Given the description of an element on the screen output the (x, y) to click on. 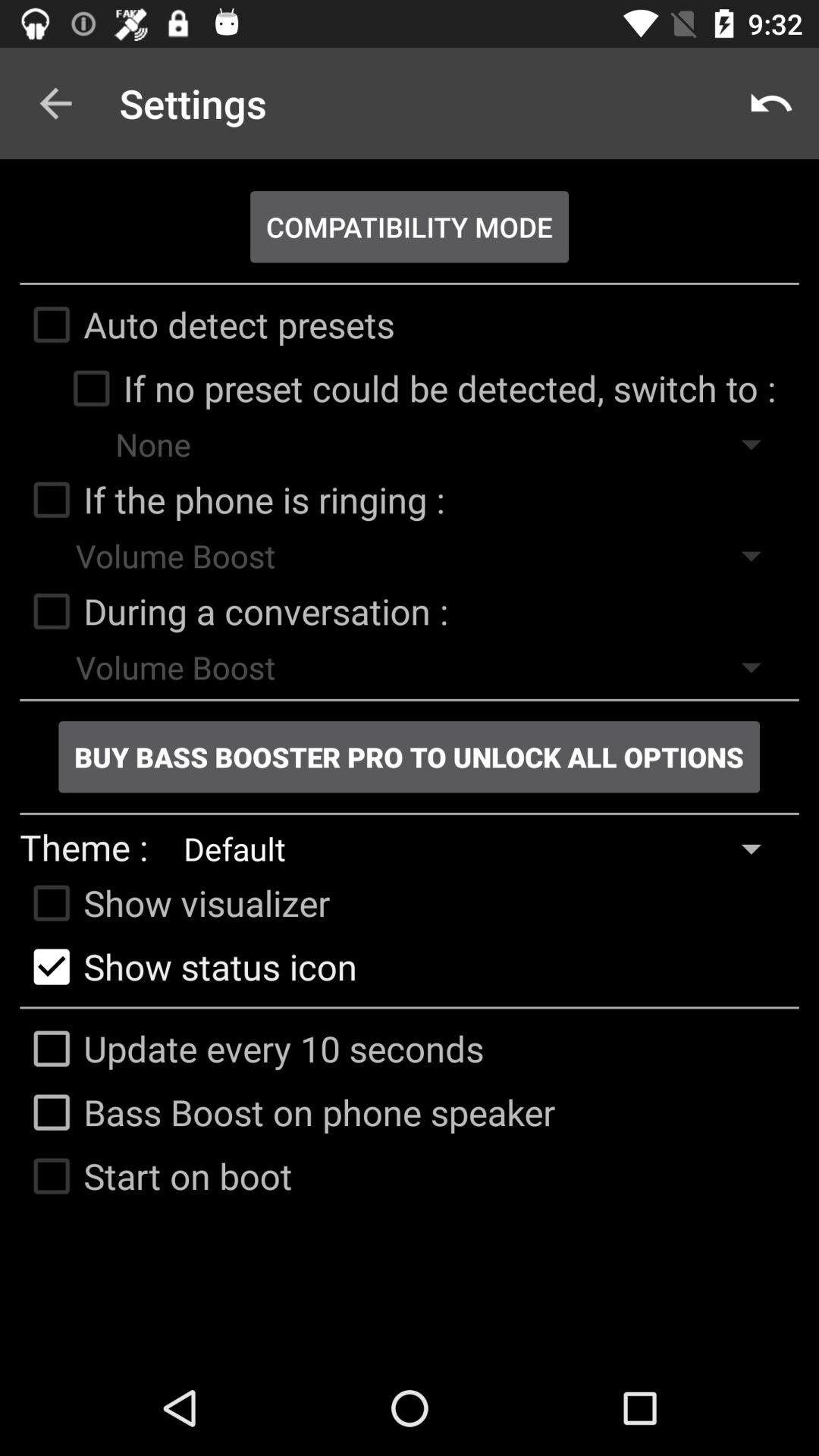
swipe to the compatibility mode item (409, 226)
